Given the description of an element on the screen output the (x, y) to click on. 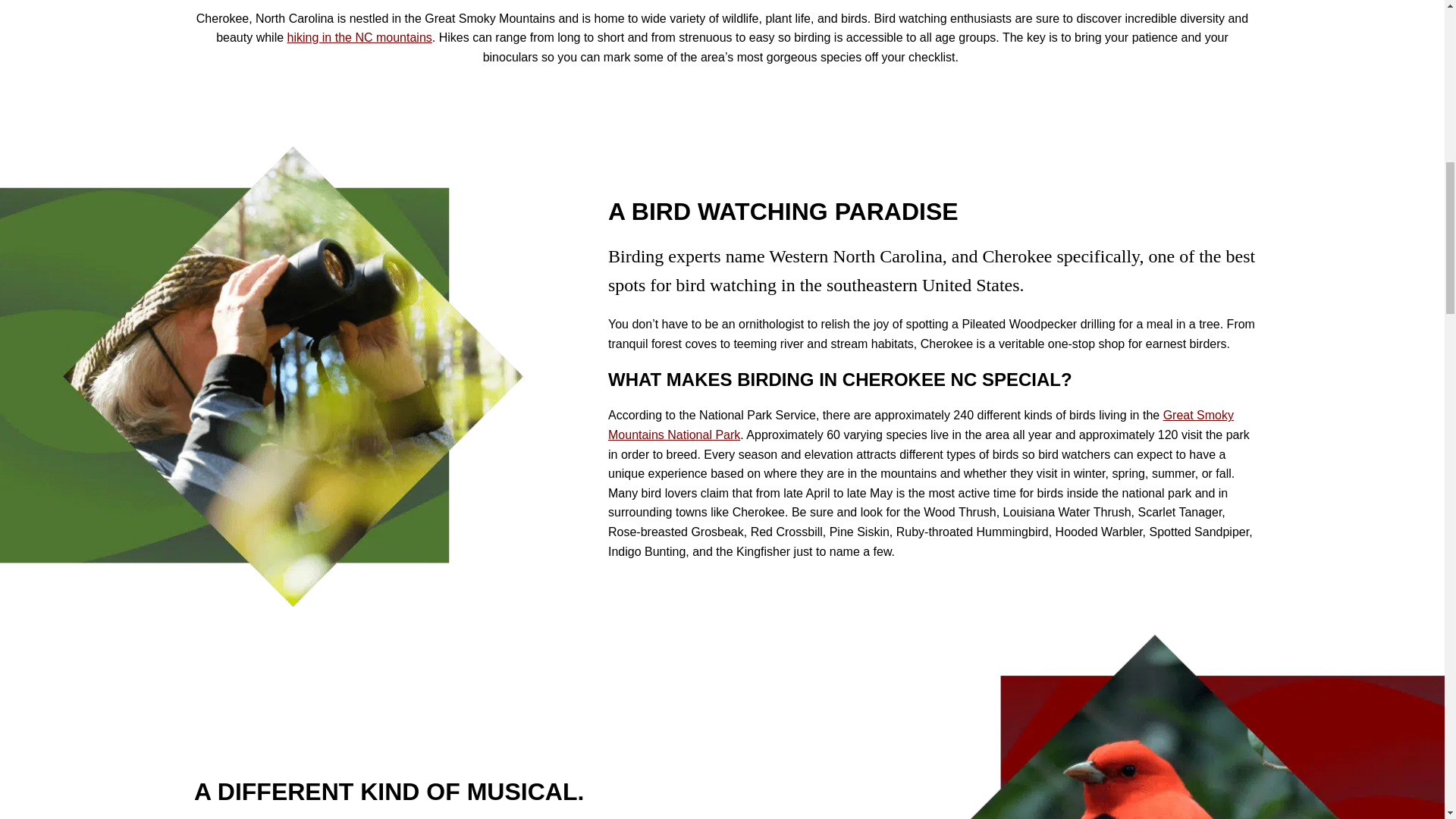
Great Smoky Mountains National Park (920, 424)
hiking in the NC mountains (359, 37)
